Given the description of an element on the screen output the (x, y) to click on. 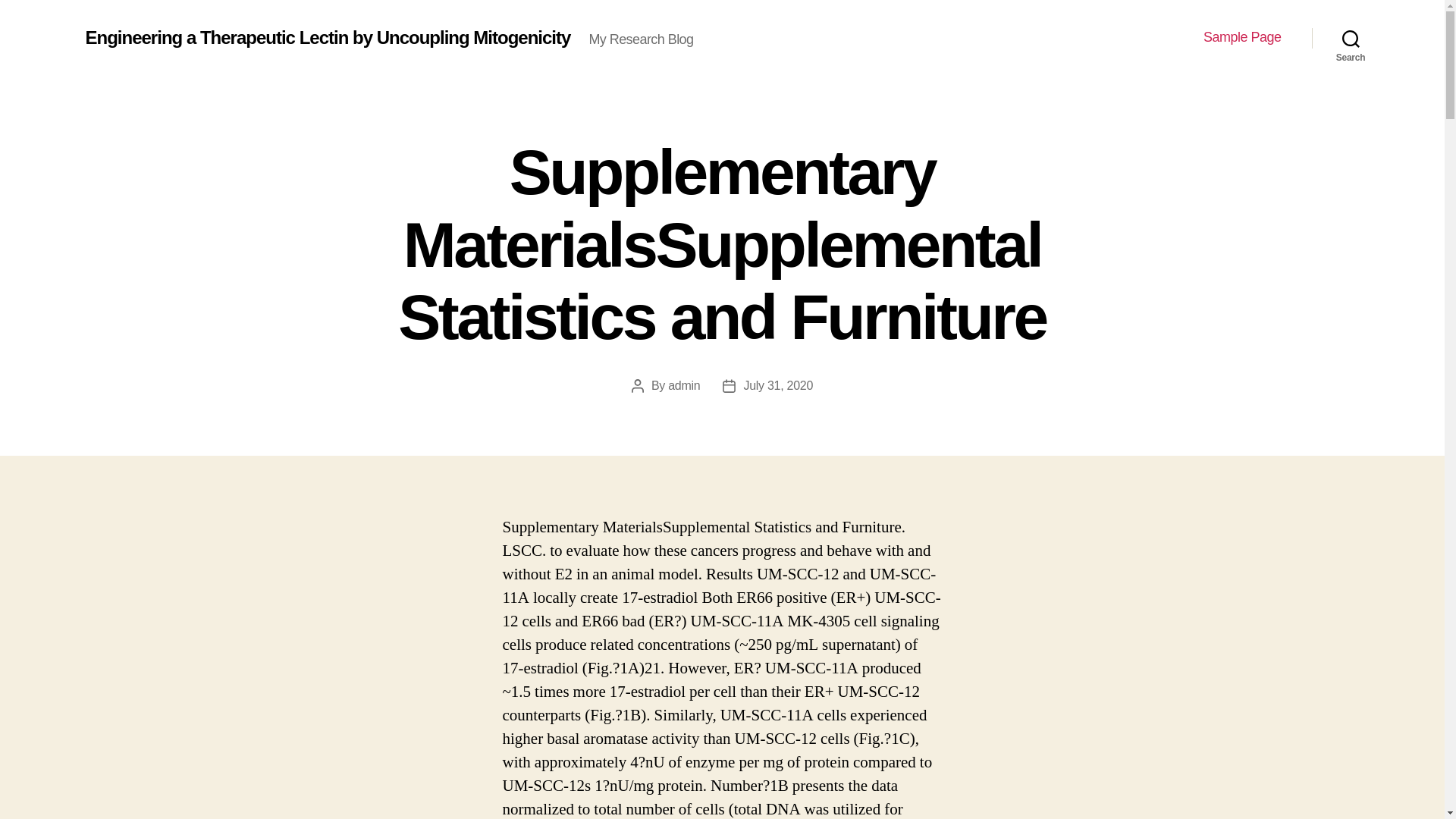
Engineering a Therapeutic Lectin by Uncoupling Mitogenicity (327, 37)
admin (684, 385)
Search (1350, 37)
Sample Page (1242, 37)
July 31, 2020 (777, 385)
